Given the description of an element on the screen output the (x, y) to click on. 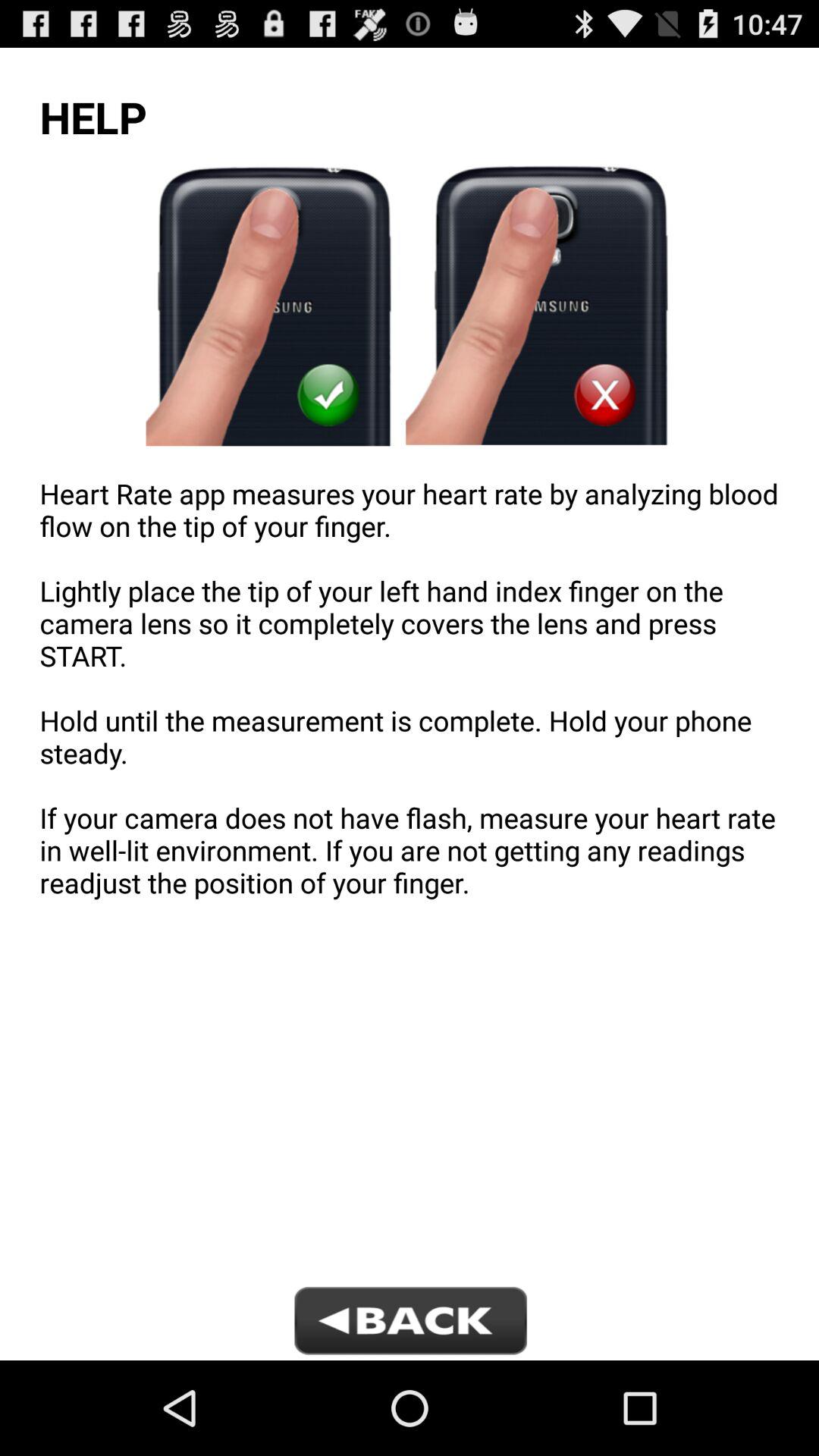
select icon below heart rate app (409, 1323)
